Given the description of an element on the screen output the (x, y) to click on. 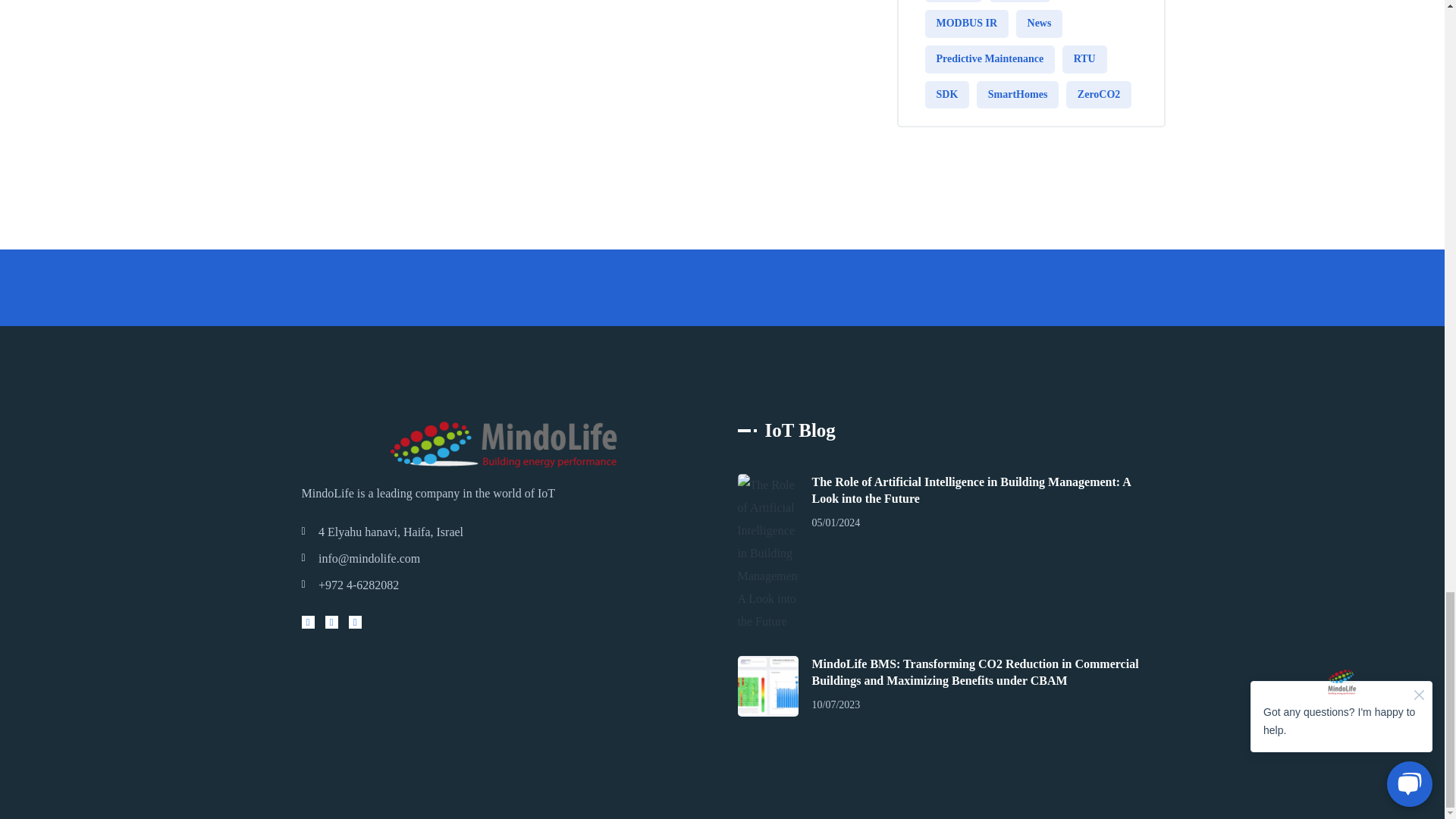
mindolife logo- energy (503, 442)
LinkedIn (355, 621)
Youtube (307, 621)
Facebook (330, 621)
